Given the description of an element on the screen output the (x, y) to click on. 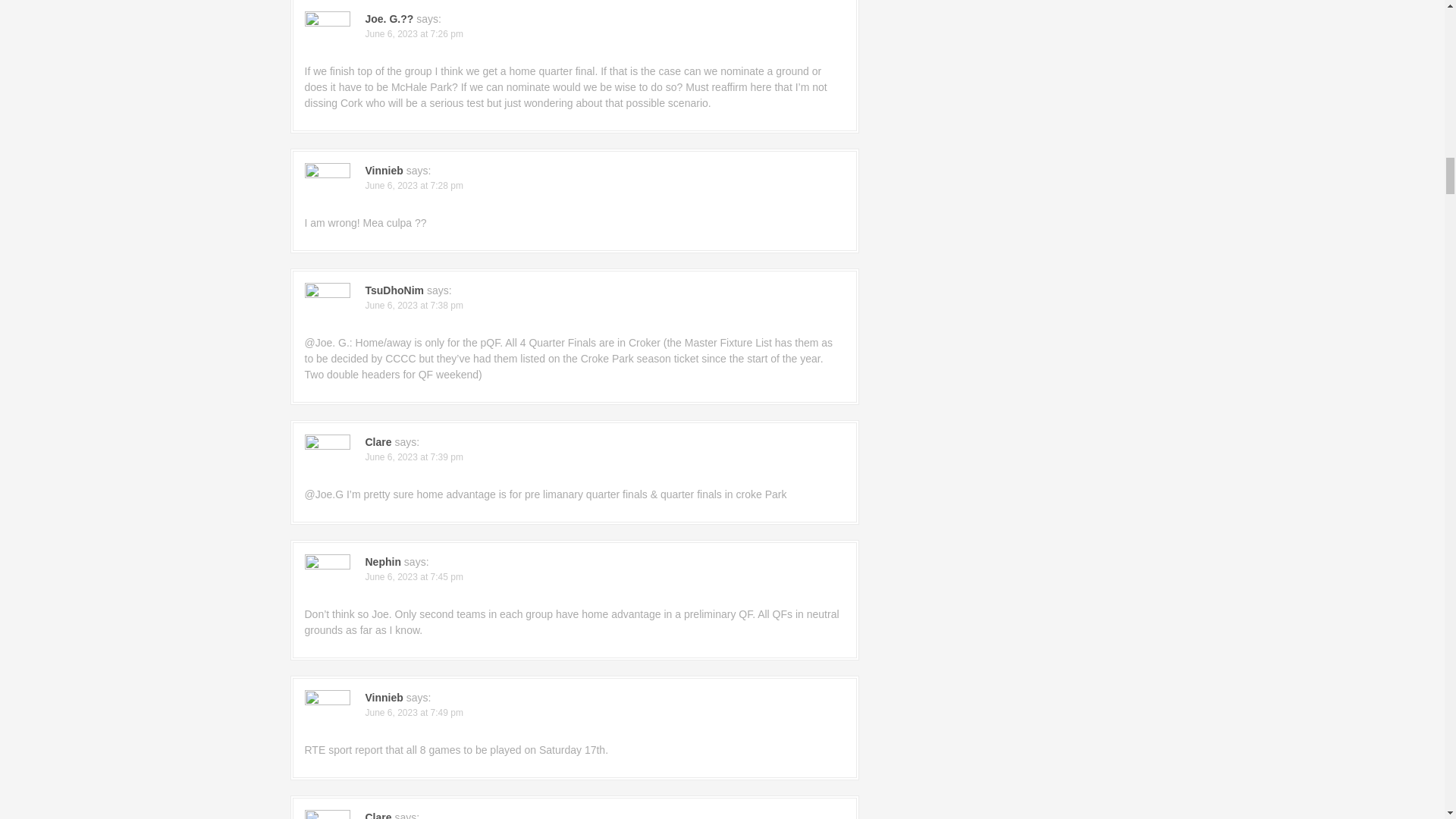
June 6, 2023 at 7:26 pm (414, 33)
June 6, 2023 at 7:38 pm (414, 305)
June 6, 2023 at 7:39 pm (414, 457)
June 6, 2023 at 7:28 pm (414, 185)
June 6, 2023 at 7:49 pm (414, 712)
June 6, 2023 at 7:45 pm (414, 576)
